Given the description of an element on the screen output the (x, y) to click on. 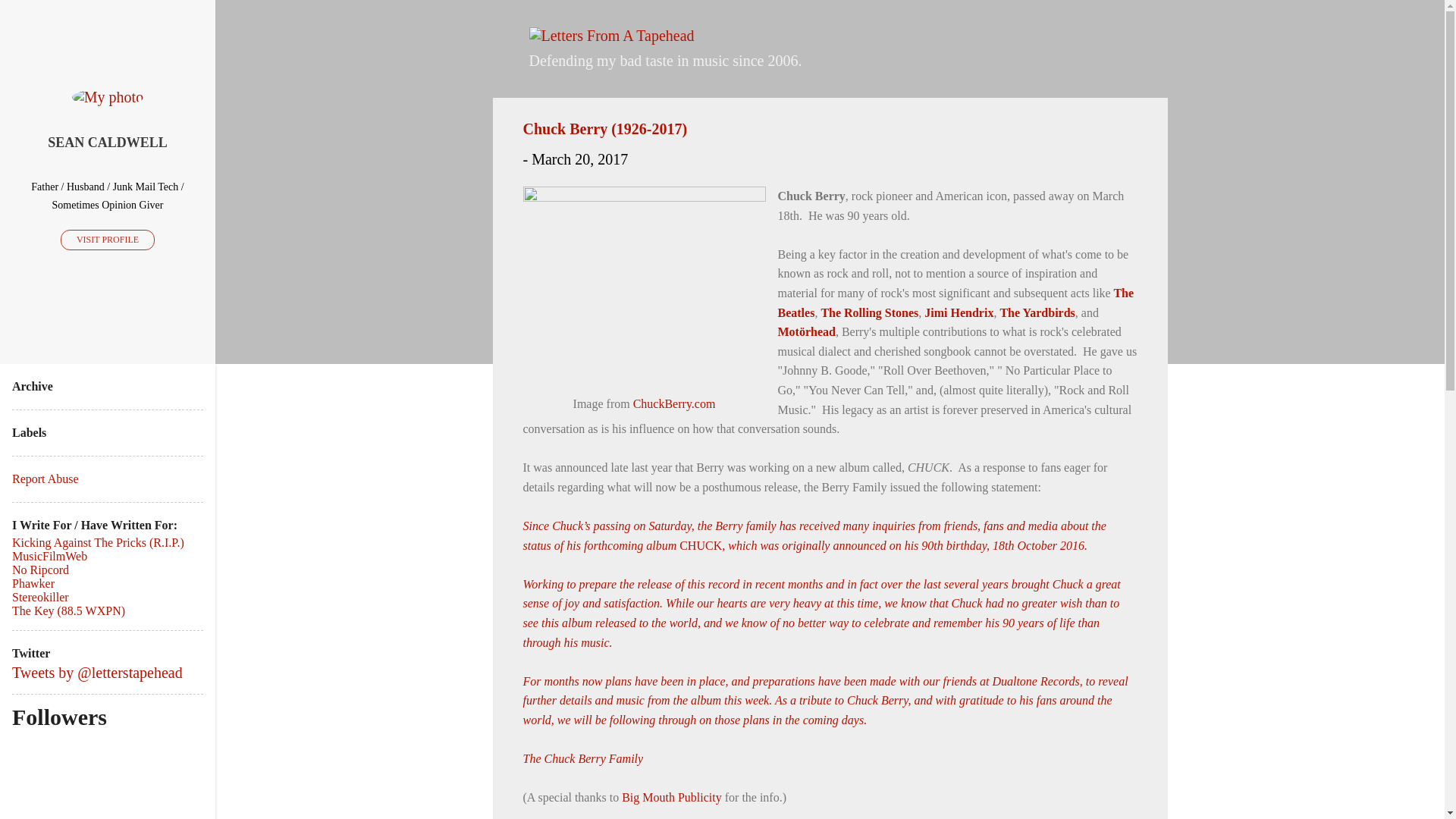
The Yardbirds (1036, 312)
Big Mouth Publicity (671, 797)
permanent link (579, 158)
The Beatles (955, 302)
Search (37, 18)
The Rolling Stones (869, 312)
Jimi Hendrix (958, 312)
March 20, 2017 (579, 158)
ChuckBerry.com (674, 403)
